Given the description of an element on the screen output the (x, y) to click on. 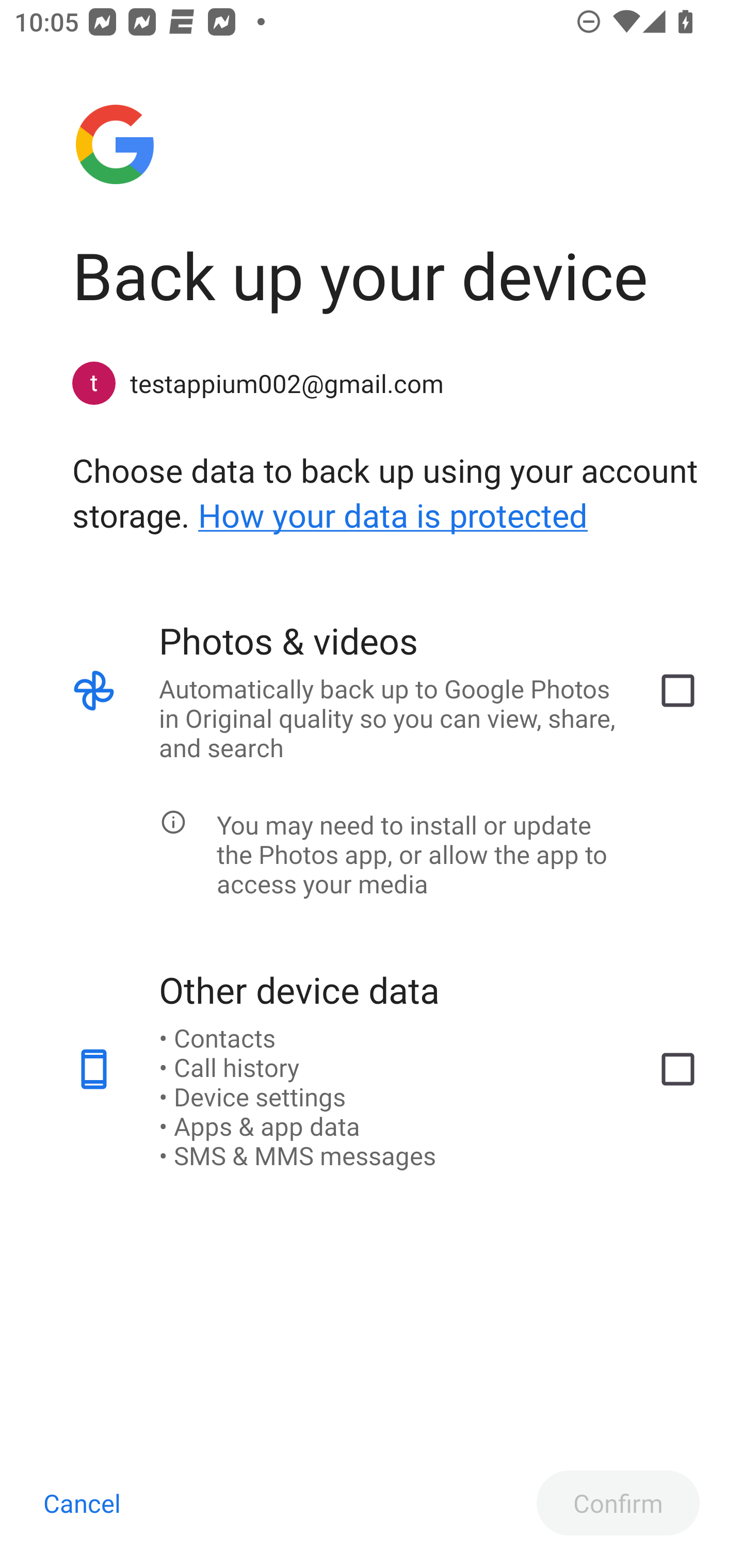
testappium002@gmail.com (385, 383)
Cancel (81, 1502)
Confirm (617, 1502)
